Given the description of an element on the screen output the (x, y) to click on. 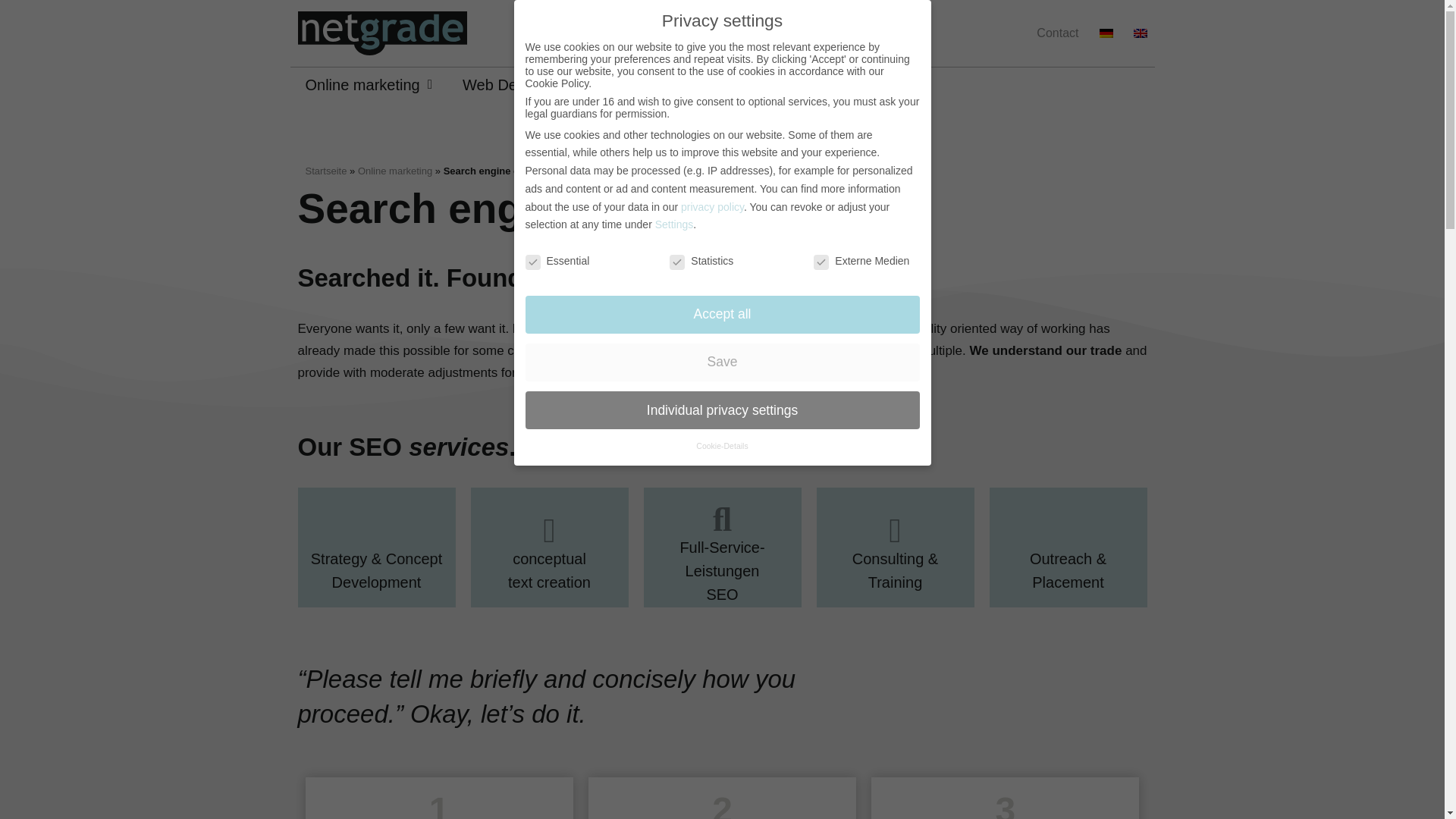
Web Development (524, 84)
Agency (729, 84)
Online marketing (367, 84)
Strategy (645, 84)
Contact (1057, 32)
